Given the description of an element on the screen output the (x, y) to click on. 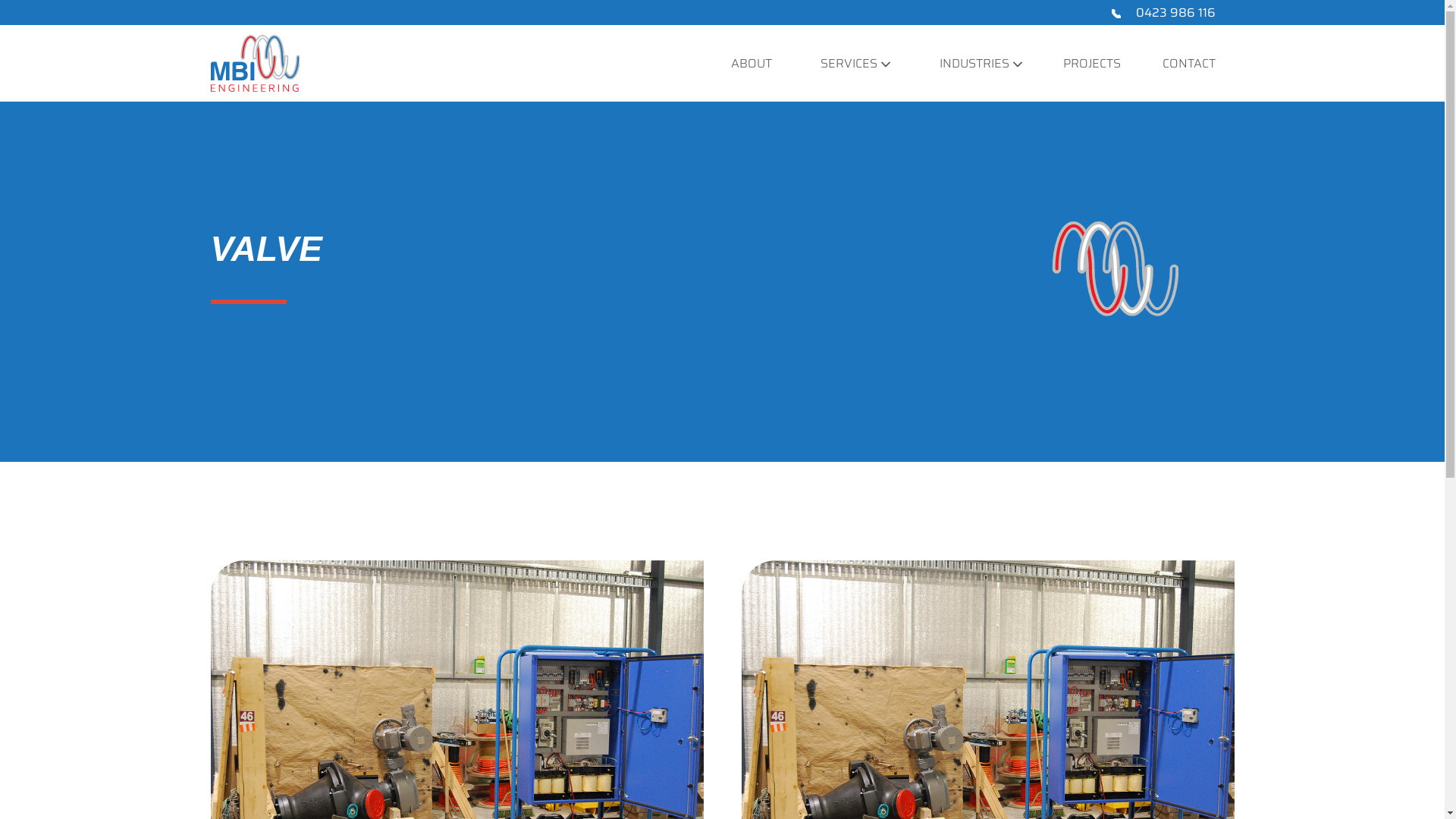
INDUSTRIES Element type: text (966, 63)
ABOUT Element type: text (751, 63)
SERVICES Element type: text (840, 63)
CONTACT Element type: text (1188, 63)
PROJECTS Element type: text (1091, 63)
